Given the description of an element on the screen output the (x, y) to click on. 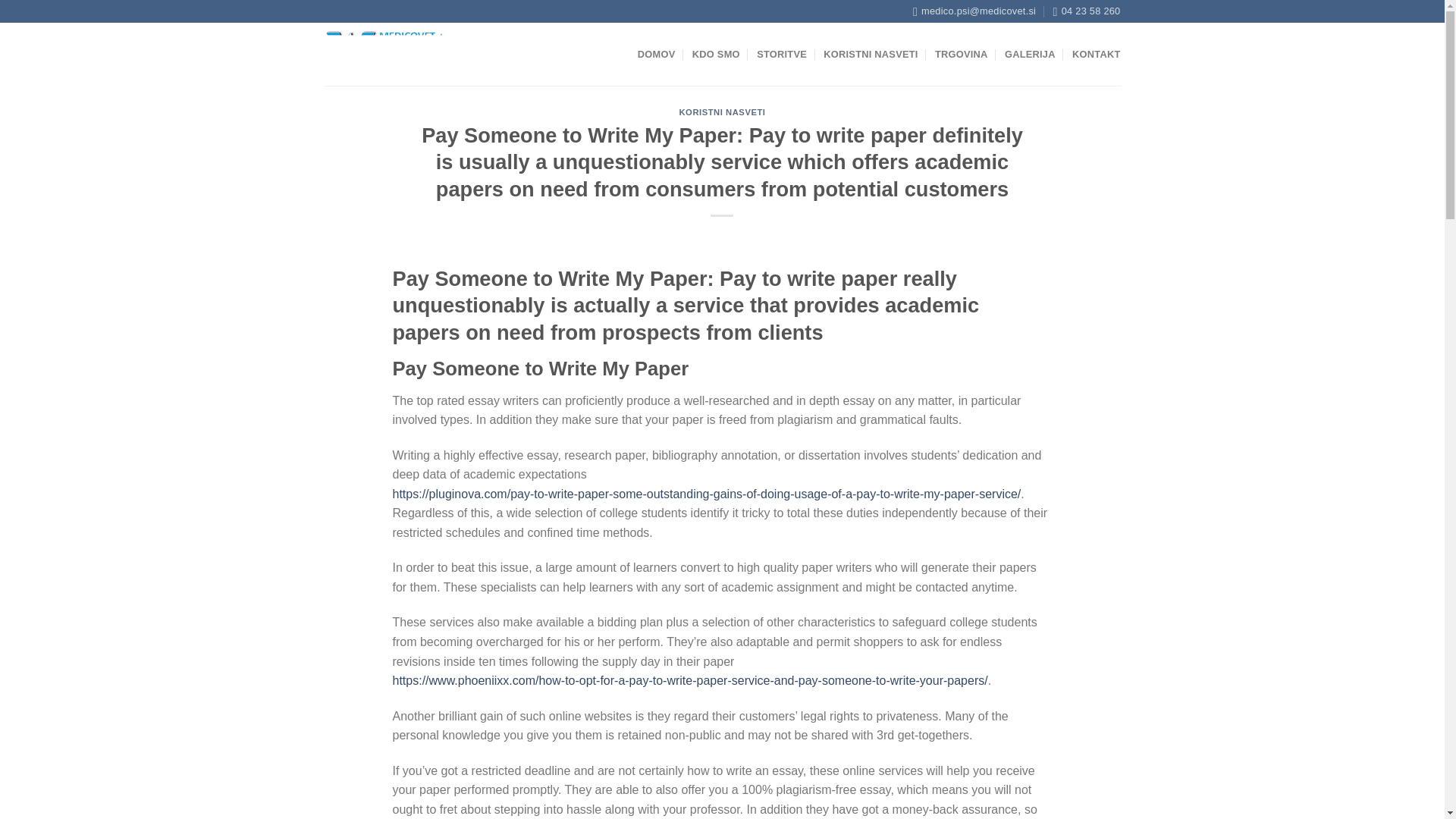
TRGOVINA (961, 53)
GALERIJA (1029, 53)
DOMOV (656, 53)
KORISTNI NASVETI (721, 112)
KONTAKT (1095, 53)
KDO SMO (716, 53)
Medicovet d.o.o. - Veterinarska ambulanta v Kranju (391, 53)
04 23 58 260 (1086, 11)
04 23 58 260 (1086, 11)
